Given the description of an element on the screen output the (x, y) to click on. 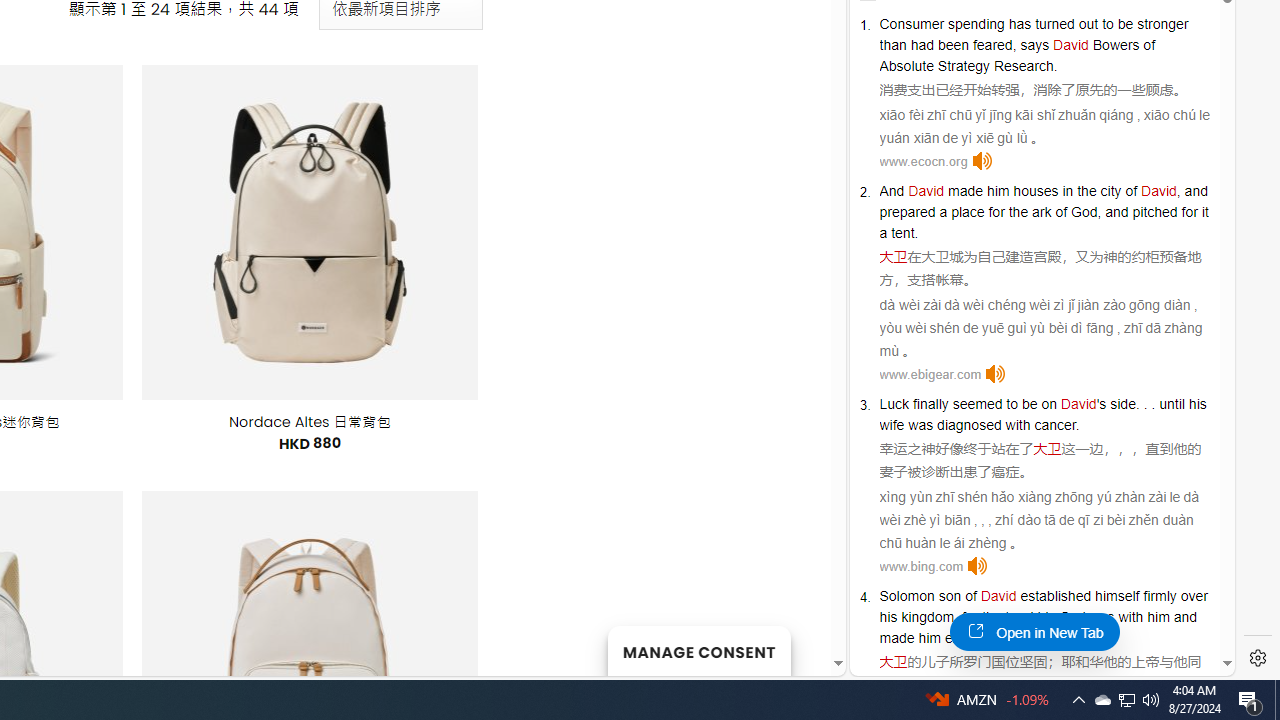
www.ebigear.com (930, 374)
exceedingly (981, 637)
Click to listen (977, 566)
has (1019, 23)
www.bing.com (921, 565)
of (970, 596)
Luck (894, 403)
